Given the description of an element on the screen output the (x, y) to click on. 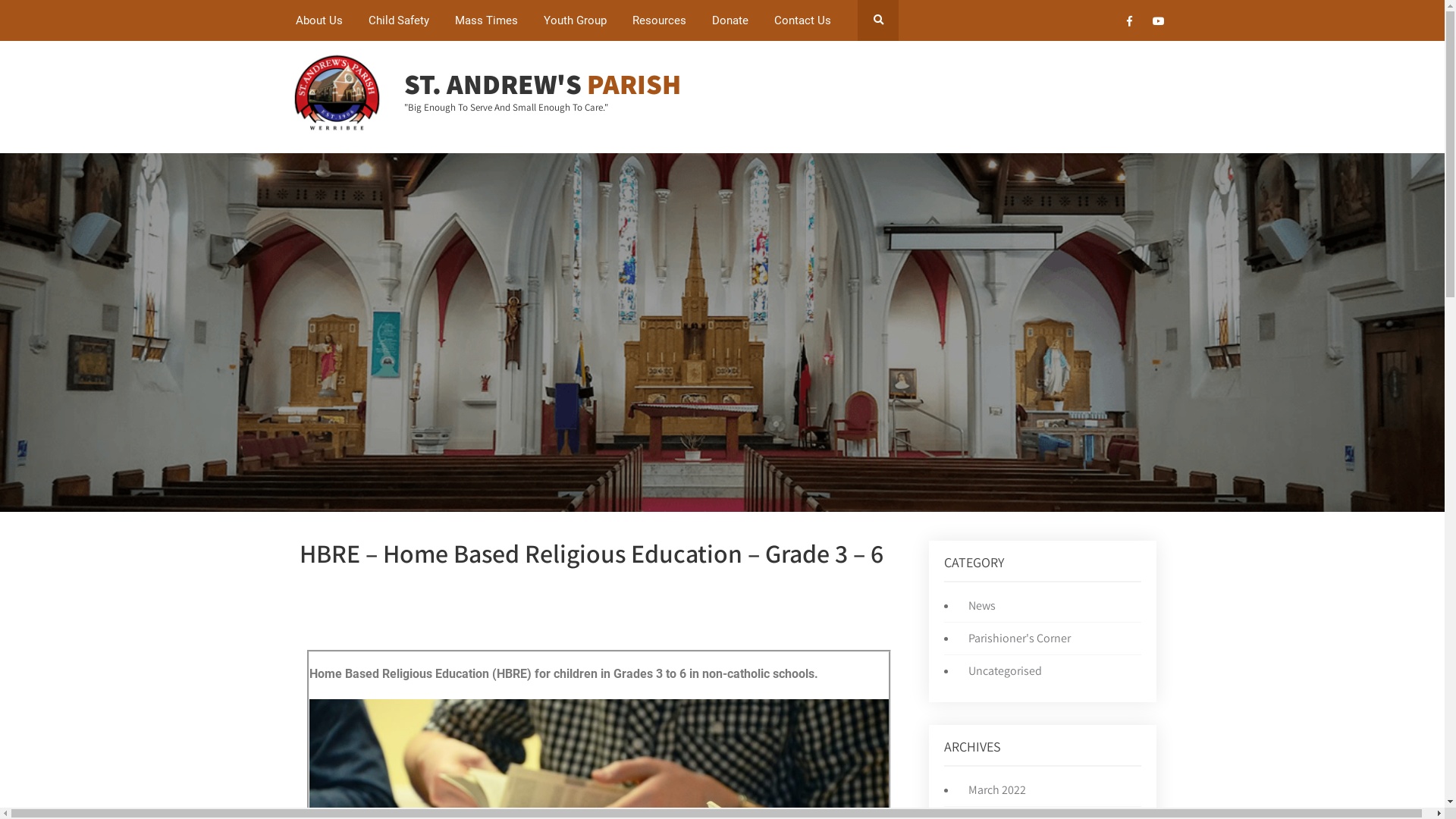
Parishioner's Corner Element type: text (1015, 638)
fab fa-facebook-f Element type: hover (1129, 23)
Youth Group Element type: text (575, 20)
Mass Times Element type: text (486, 20)
ST. ANDREW'S PARISH Element type: text (542, 83)
About Us Element type: text (319, 20)
Resources Element type: text (659, 20)
Uncategorised Element type: text (1000, 670)
Donate Element type: text (729, 20)
fab fa-youtube Element type: hover (1158, 23)
Child Safety Element type: text (398, 20)
March 2022 Element type: text (993, 789)
Contact Us Element type: text (802, 20)
News Element type: text (977, 605)
